Given the description of an element on the screen output the (x, y) to click on. 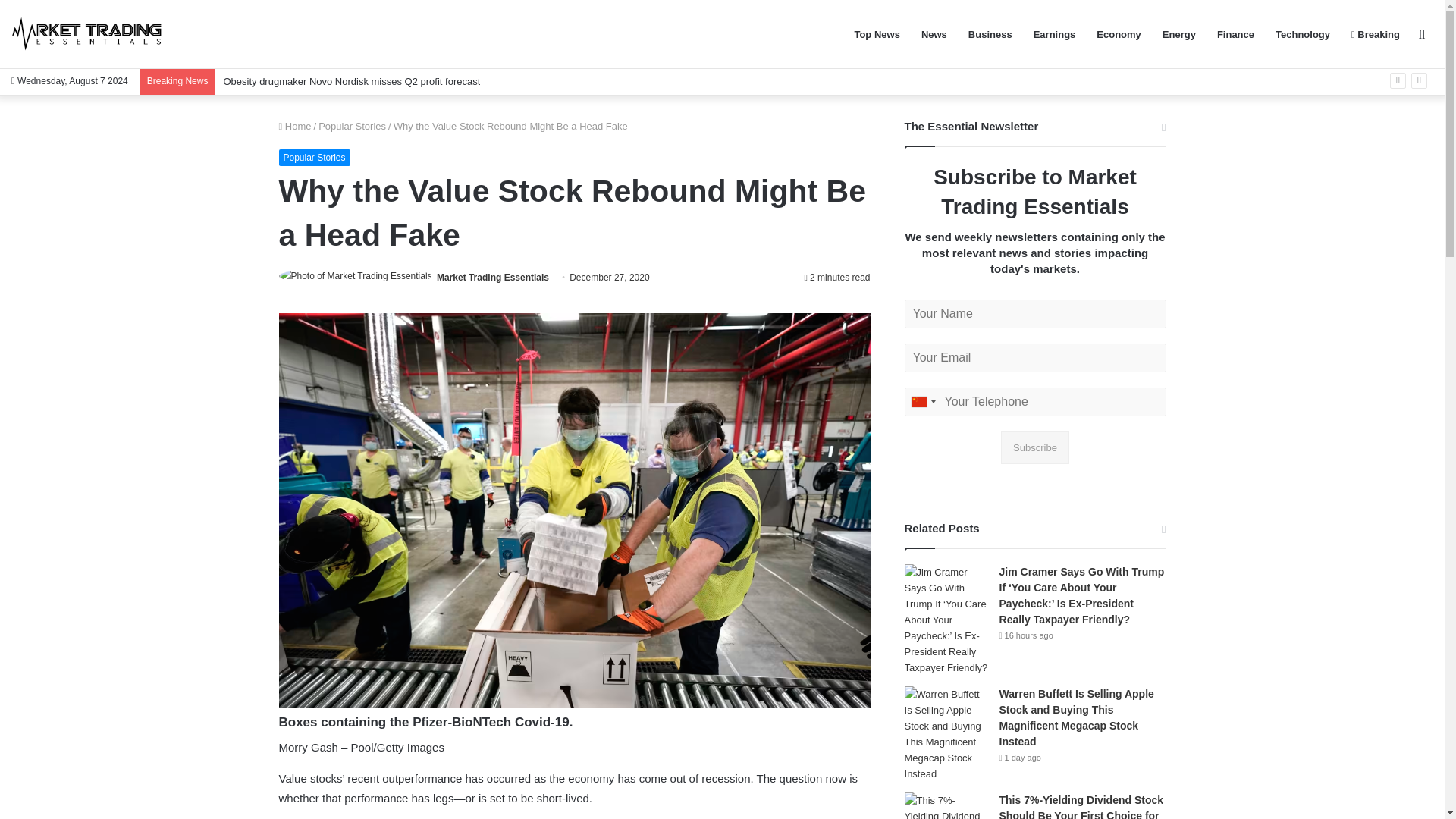
Popular Stories (351, 125)
Technology (1302, 33)
Top News (876, 33)
Obesity drugmaker Novo Nordisk misses Q2 profit forecast (351, 81)
Breaking (1375, 33)
Market Trading Essentials (87, 34)
Home (295, 125)
Earnings (1054, 33)
Popular Stories (314, 157)
Market Trading Essentials (492, 276)
Market Trading Essentials (492, 276)
Business (990, 33)
Economy (1118, 33)
